Given the description of an element on the screen output the (x, y) to click on. 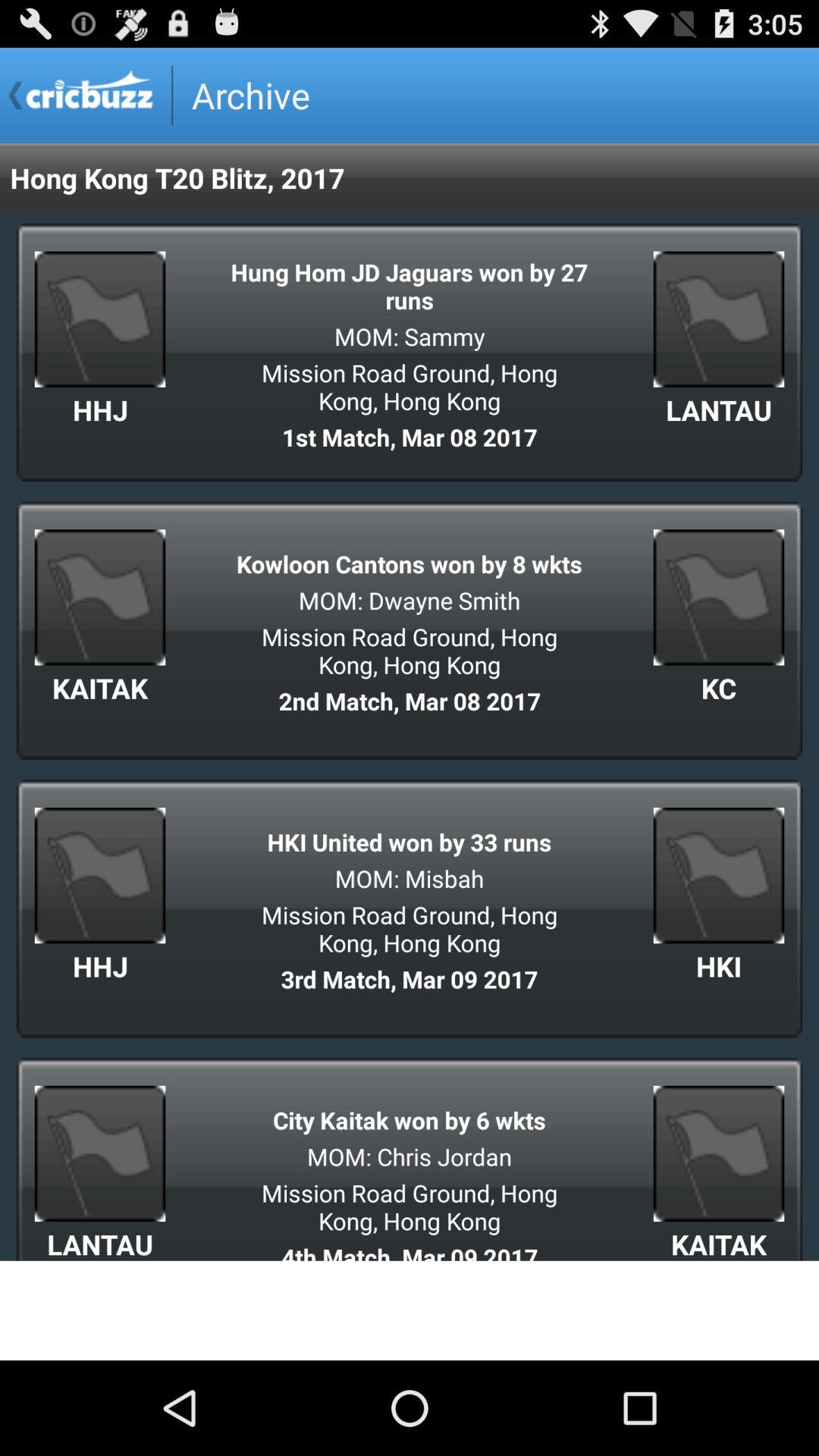
swipe to city kaitak won icon (409, 1119)
